Given the description of an element on the screen output the (x, y) to click on. 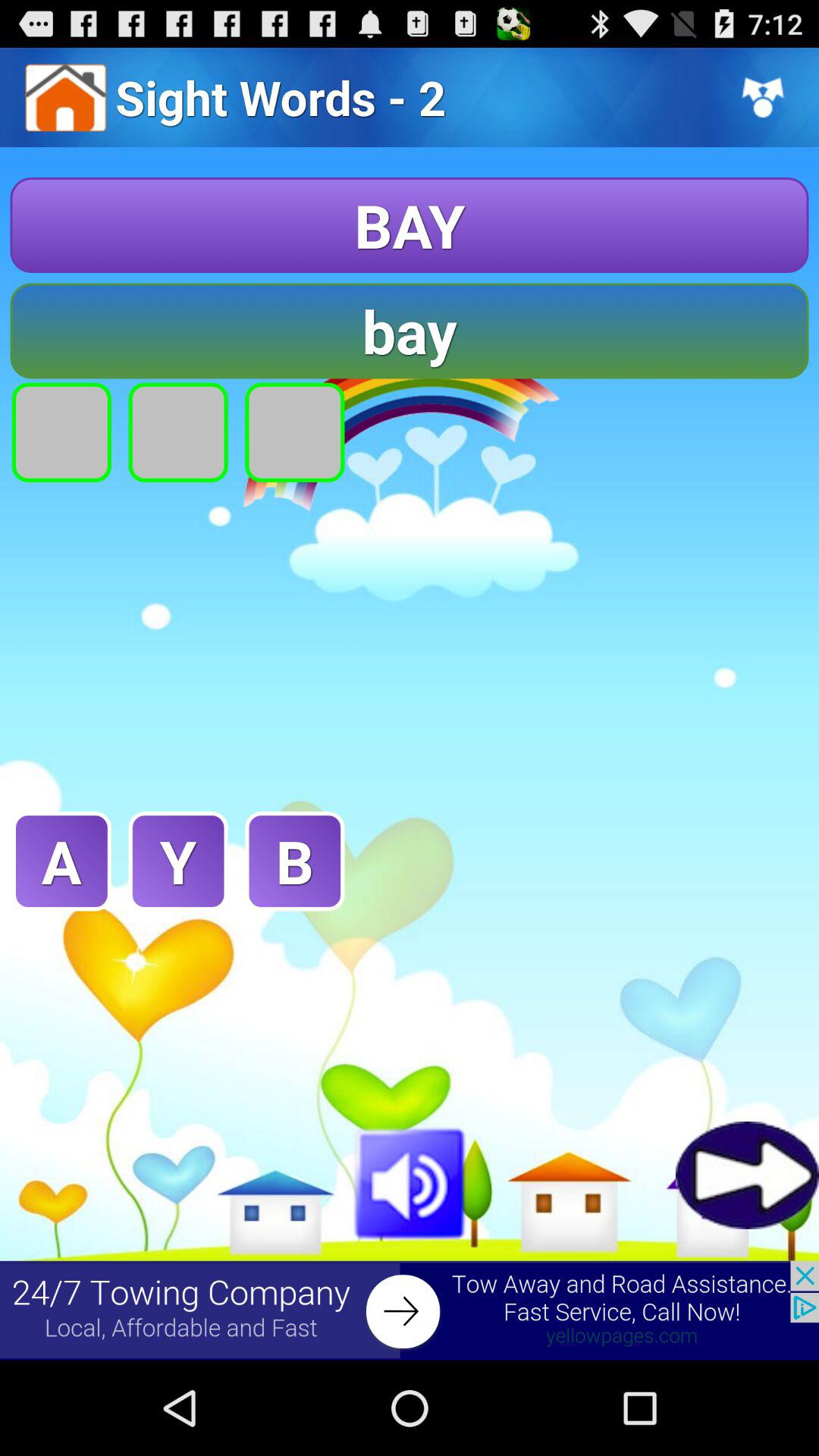
go forward (747, 1175)
